Given the description of an element on the screen output the (x, y) to click on. 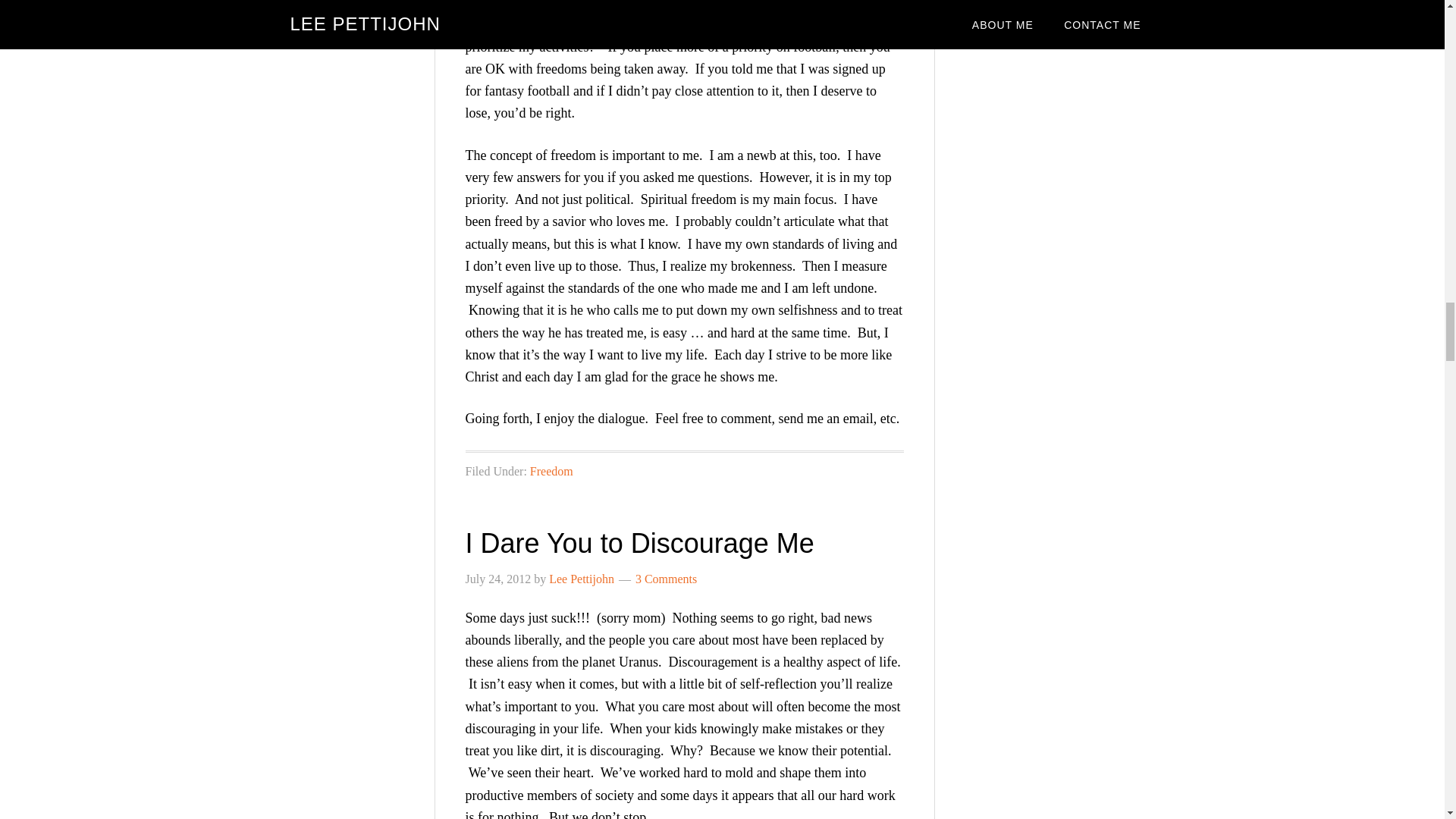
I Dare You to Discourage Me (639, 542)
Freedom (551, 470)
3 Comments (665, 577)
Lee Pettijohn (581, 577)
